Given the description of an element on the screen output the (x, y) to click on. 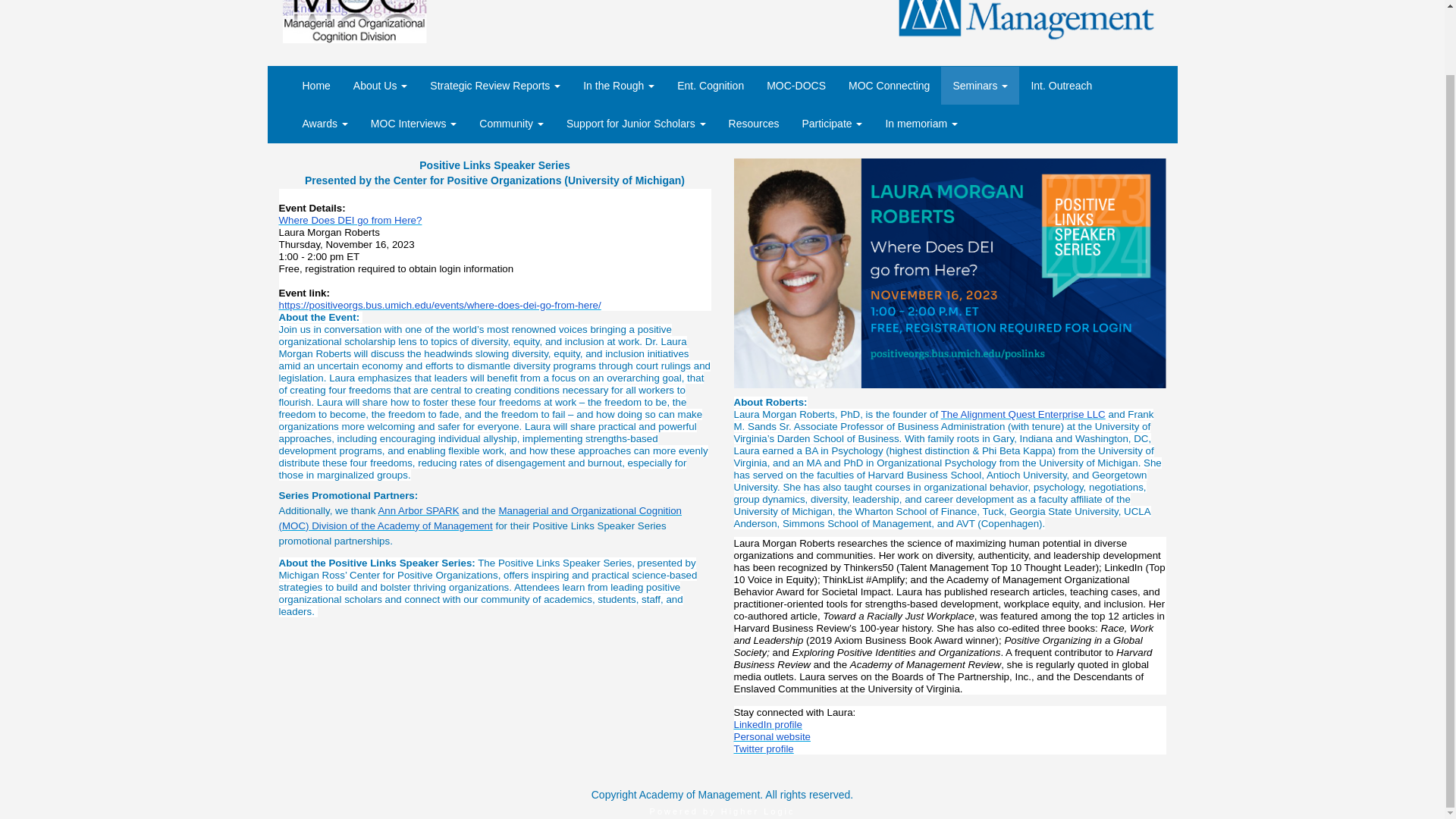
In the Rough (618, 85)
Seminars (979, 85)
Ent. Cognition (710, 85)
Home (316, 85)
About Us (380, 85)
MOC Connecting (888, 85)
Strategic Review Reports (495, 85)
MOC-DOCS (796, 85)
